Given the description of an element on the screen output the (x, y) to click on. 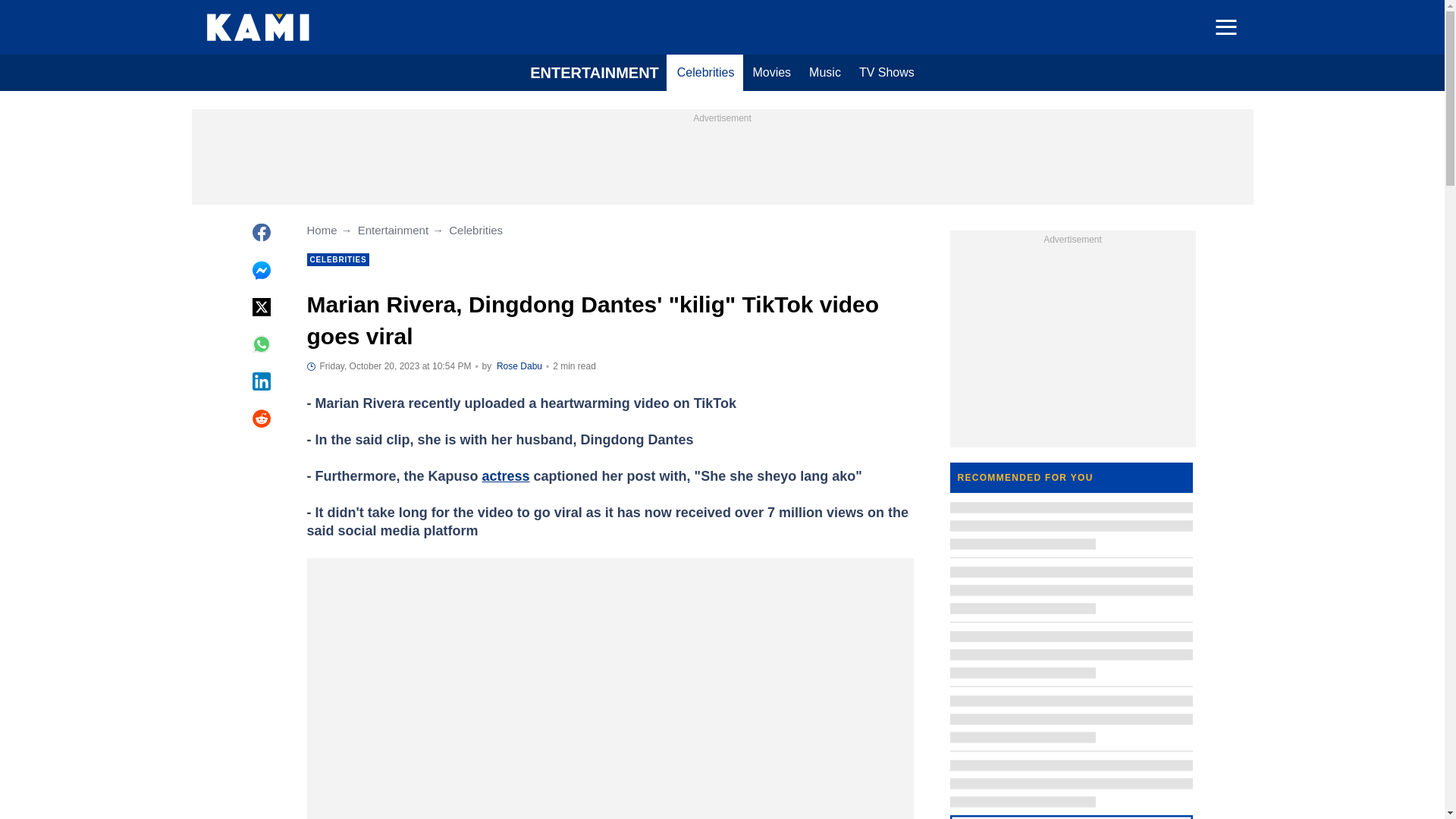
Author page (518, 366)
Movies (770, 72)
Music (824, 72)
ENTERTAINMENT (594, 72)
Celebrities (706, 72)
TV Shows (886, 72)
